Given the description of an element on the screen output the (x, y) to click on. 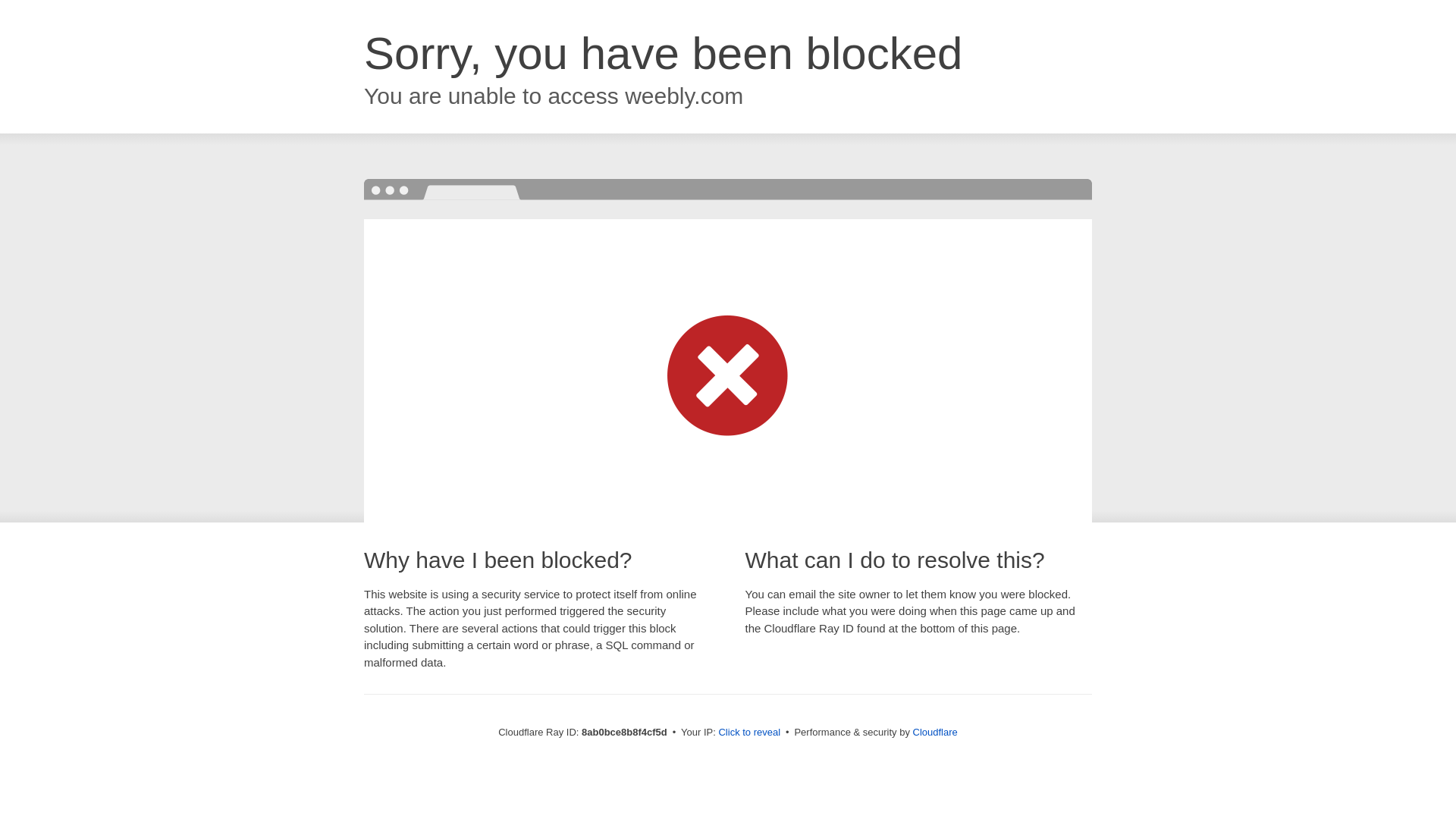
Cloudflare (935, 731)
Click to reveal (748, 732)
